Given the description of an element on the screen output the (x, y) to click on. 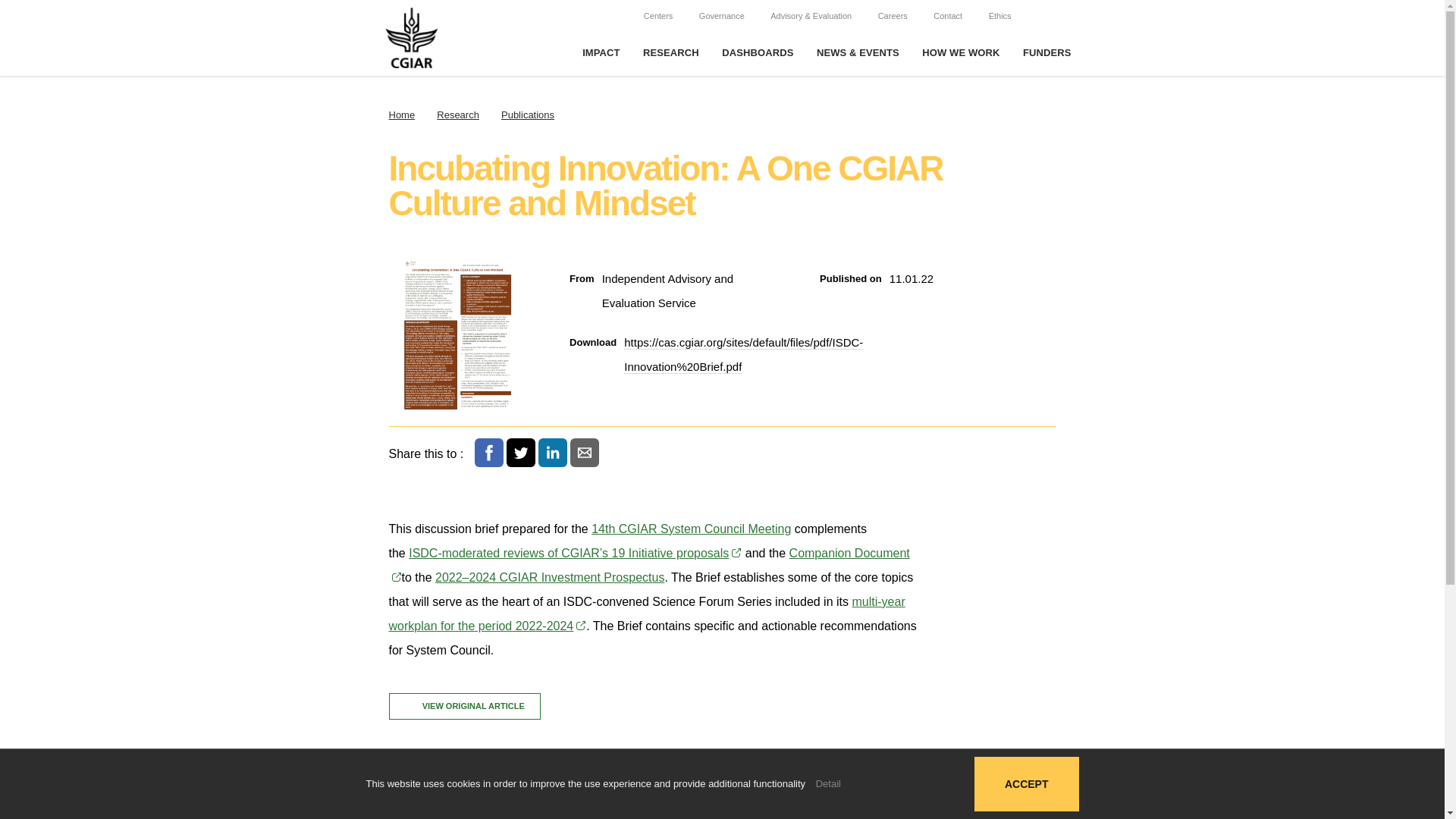
RESEARCH (670, 53)
